Given the description of an element on the screen output the (x, y) to click on. 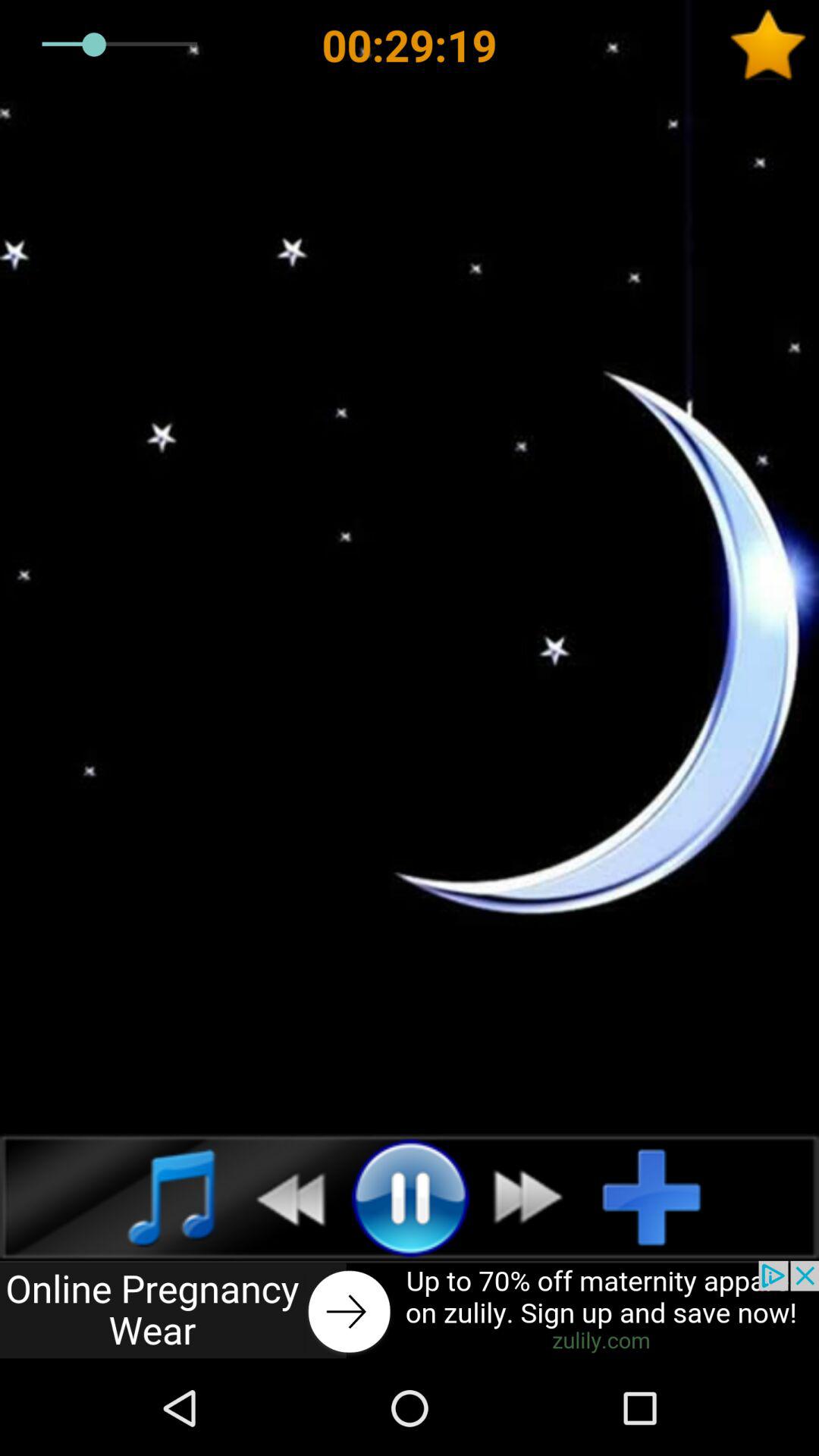
pause (409, 1196)
